Given the description of an element on the screen output the (x, y) to click on. 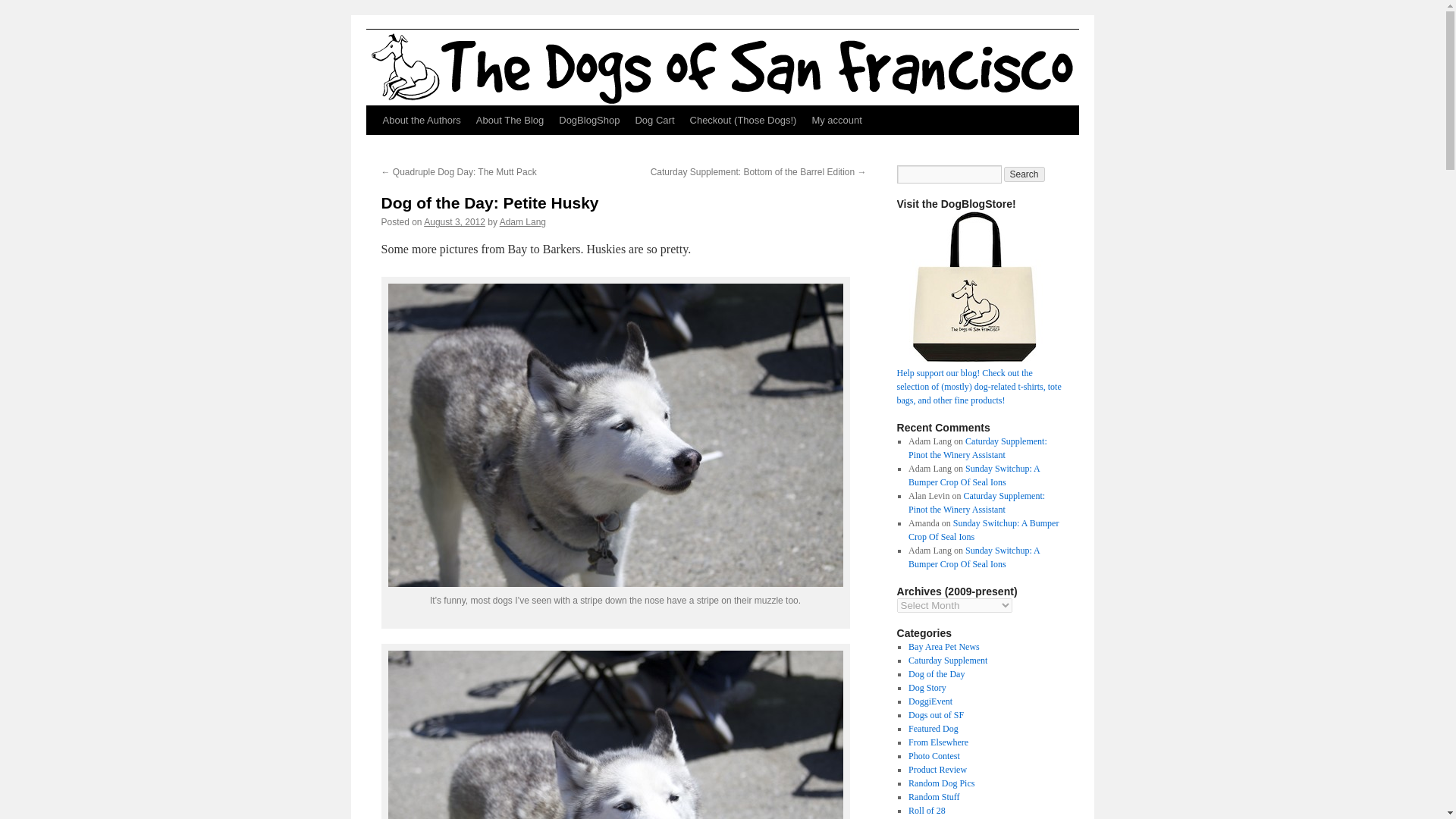
Sunday Switchup: A Bumper Crop Of Seal Ions (983, 529)
My account (836, 120)
August 3, 2012 (453, 222)
DoggiEvent (930, 701)
Dog of the Day (935, 674)
Bay Area Pet News (943, 646)
7:05 pm (453, 222)
DogBlogShop (589, 120)
About the Authors (420, 120)
Search (1024, 174)
Sunday Switchup: A Bumper Crop Of Seal Ions (973, 475)
Dog Cart (654, 120)
Dog Story (927, 687)
About The Blog (509, 120)
